Given the description of an element on the screen output the (x, y) to click on. 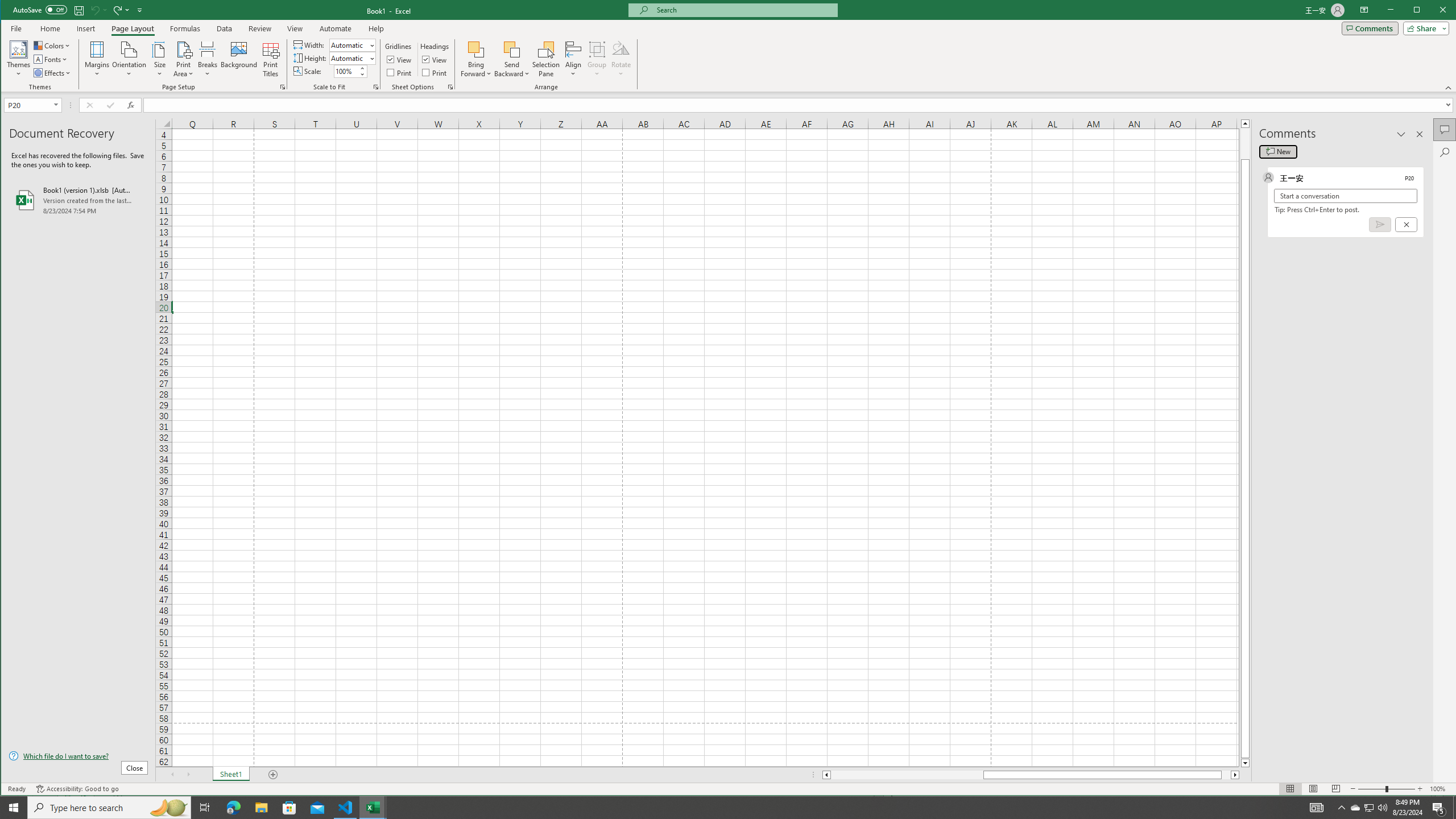
New comment (1278, 151)
Orientation (129, 59)
Excel - 2 running windows (1355, 807)
More (373, 807)
Visual Studio Code - 1 running window (361, 68)
Send Backward (345, 807)
Notification Chevron (512, 48)
